Given the description of an element on the screen output the (x, y) to click on. 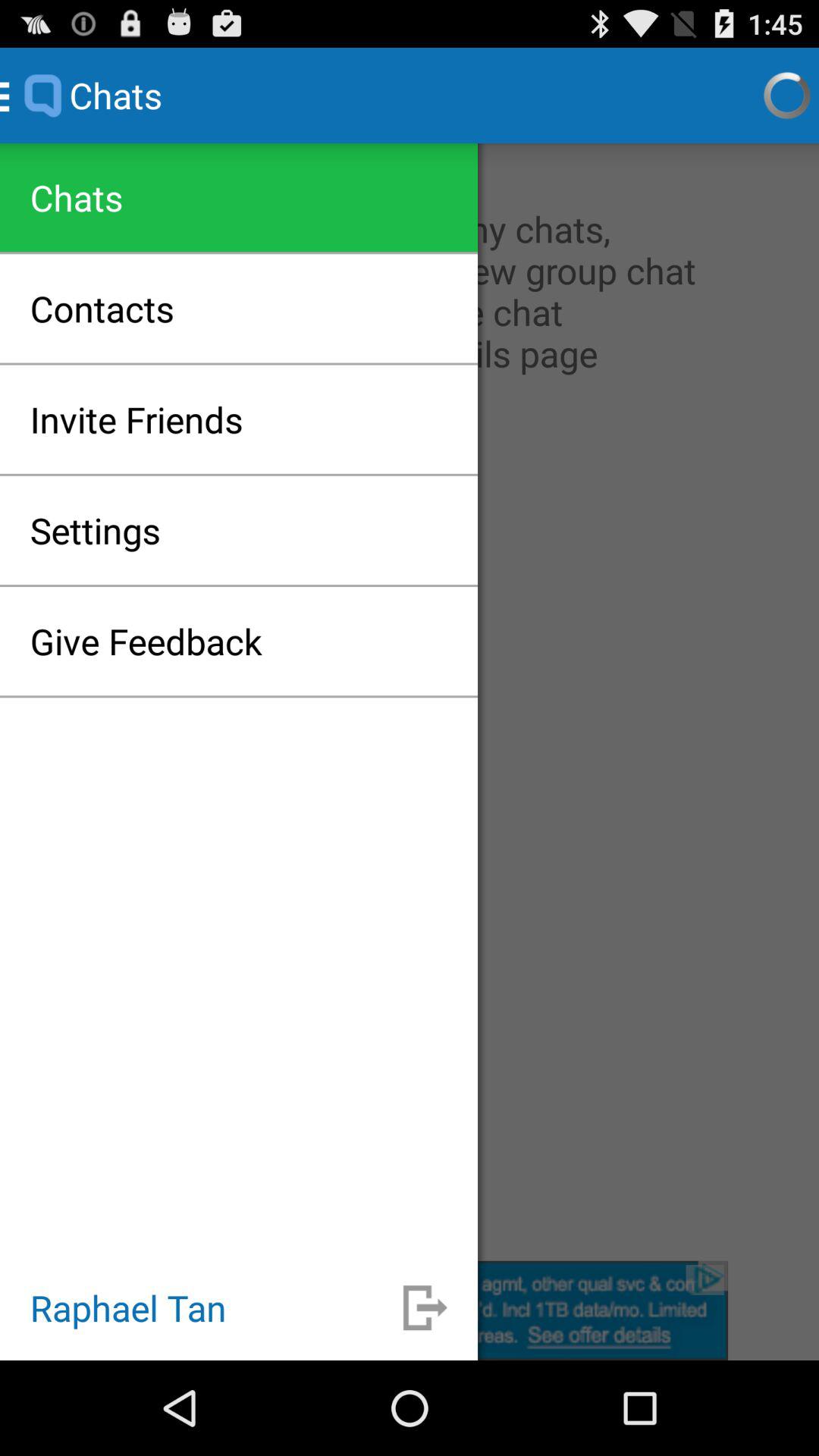
see advertisement details (409, 1310)
